Given the description of an element on the screen output the (x, y) to click on. 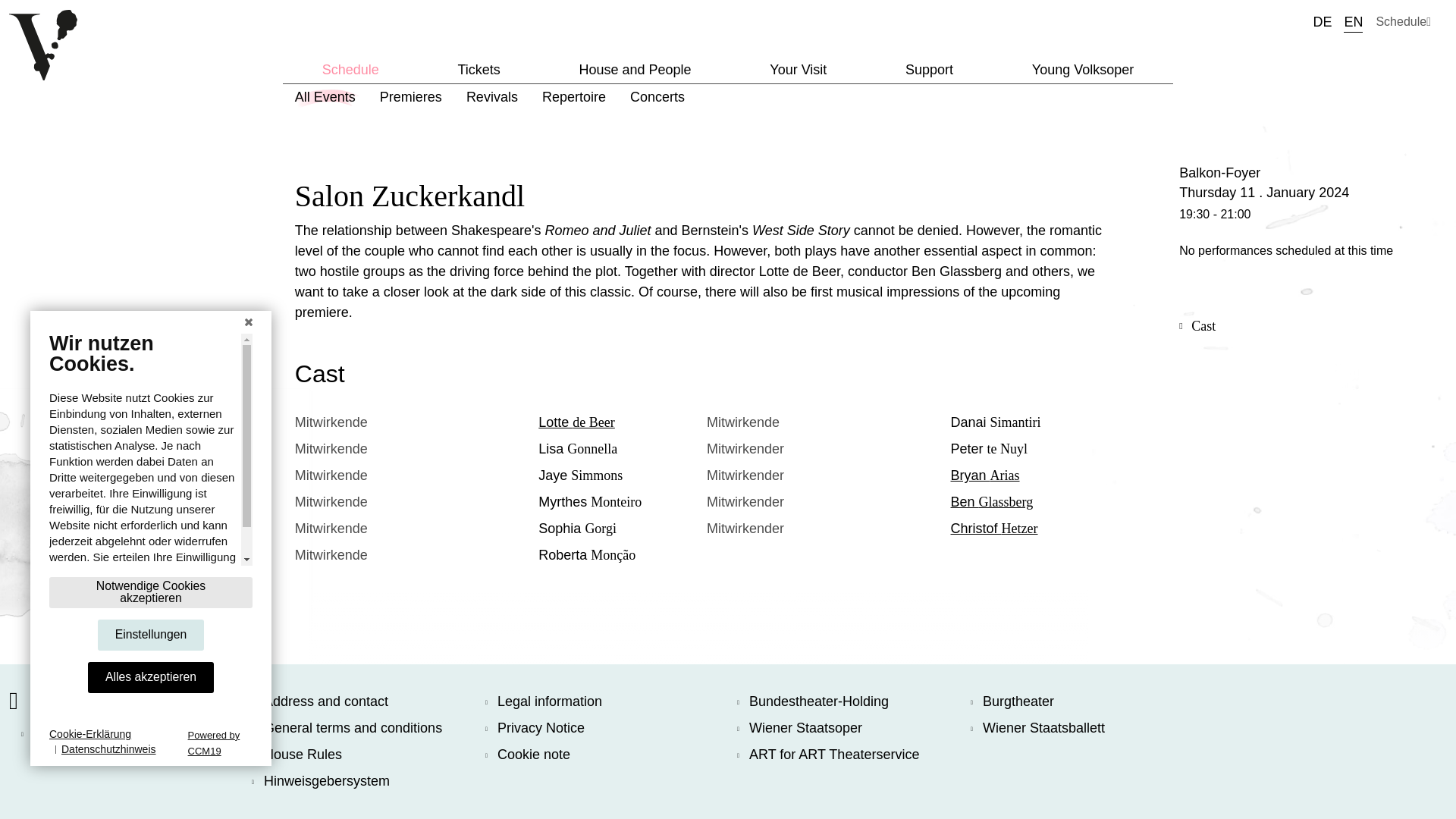
EN (1353, 21)
Cast (1203, 325)
Privacy Notice (601, 728)
House and People (634, 69)
Volksoper Press (50, 733)
Bryan Arias (985, 475)
Legal information (601, 701)
Schedule (1403, 21)
Concerts (657, 97)
Address and contact (367, 701)
